Given the description of an element on the screen output the (x, y) to click on. 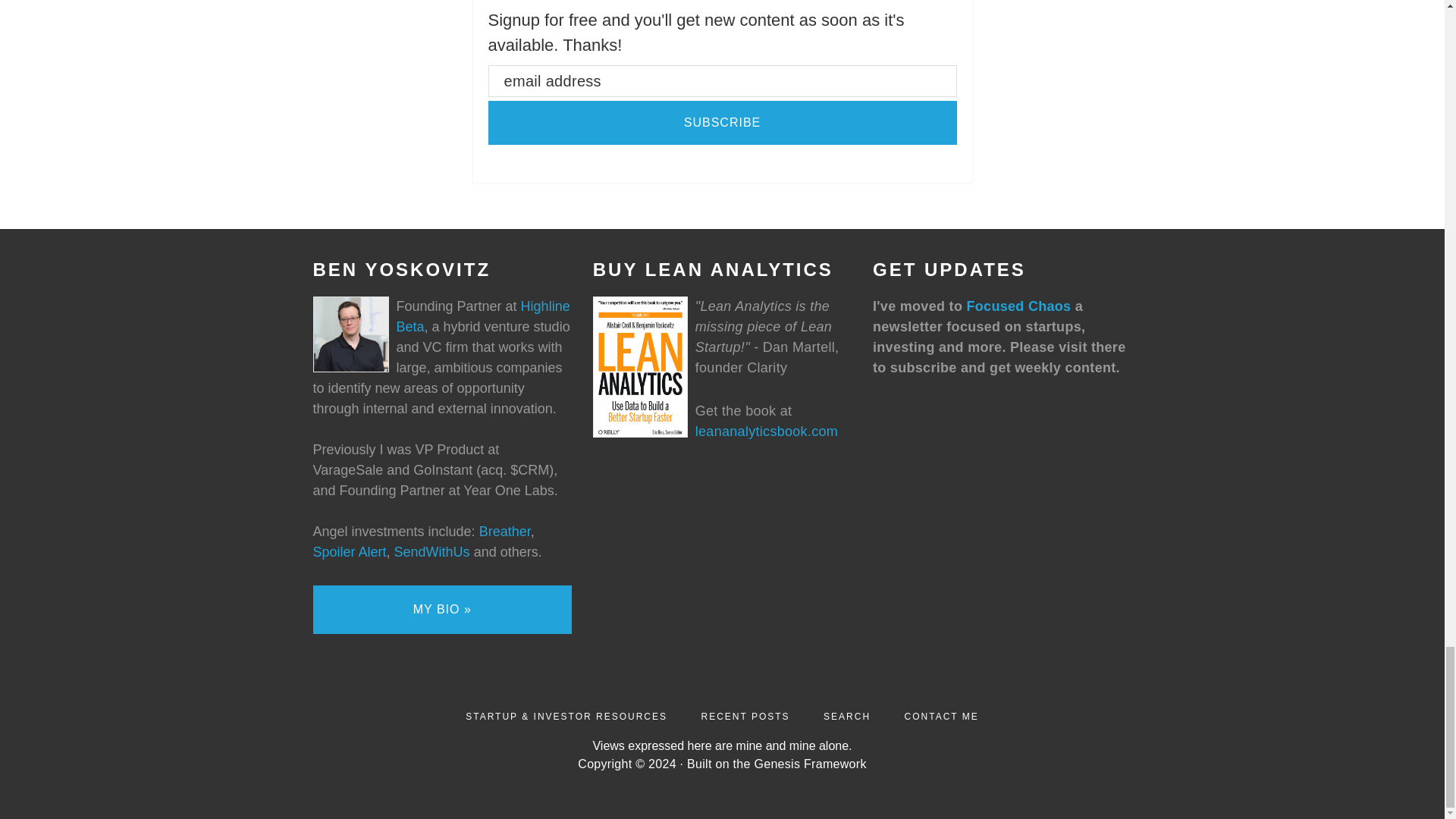
Highline Beta (482, 316)
RECENT POSTS (744, 716)
Focused Chaos (1018, 305)
CONTACT ME (941, 716)
Genesis Framework (810, 763)
Breather (505, 531)
SendWithUs (432, 551)
Genesis Framework (810, 763)
leananalyticsbook.com (766, 431)
SEARCH (847, 716)
Spoiler Alert (349, 551)
Subscribe (721, 122)
Subscribe (721, 122)
